Given the description of an element on the screen output the (x, y) to click on. 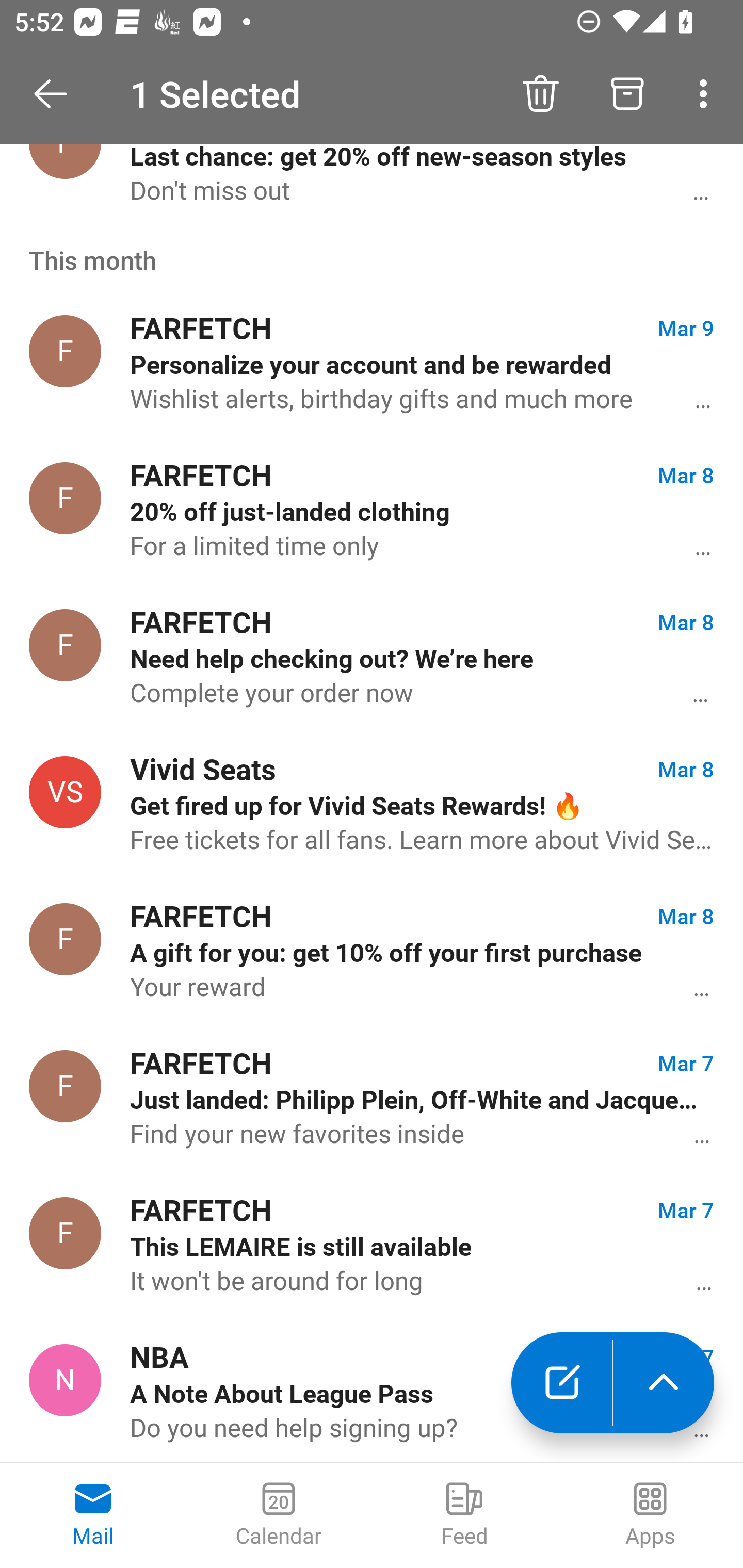
Delete (540, 93)
Archive (626, 93)
More options (706, 93)
Open Navigation Drawer (57, 94)
FARFETCH, farfetch@email.farfetch.com (64, 351)
FARFETCH, farfetch@email.farfetch.com (64, 498)
FARFETCH, farfetch@email.farfetch.com (64, 645)
Vivid Seats, tickets@live.vividseats.com (64, 791)
FARFETCH, farfetch@email.farfetch.com (64, 939)
FARFETCH, farfetch@email.farfetch.com (64, 1086)
FARFETCH, farfetch@email.farfetch.com (64, 1233)
New mail (561, 1382)
launch the extended action menu (663, 1382)
NBA, NBA@email.nba.com (64, 1379)
Calendar (278, 1515)
Feed (464, 1515)
Apps (650, 1515)
